Given the description of an element on the screen output the (x, y) to click on. 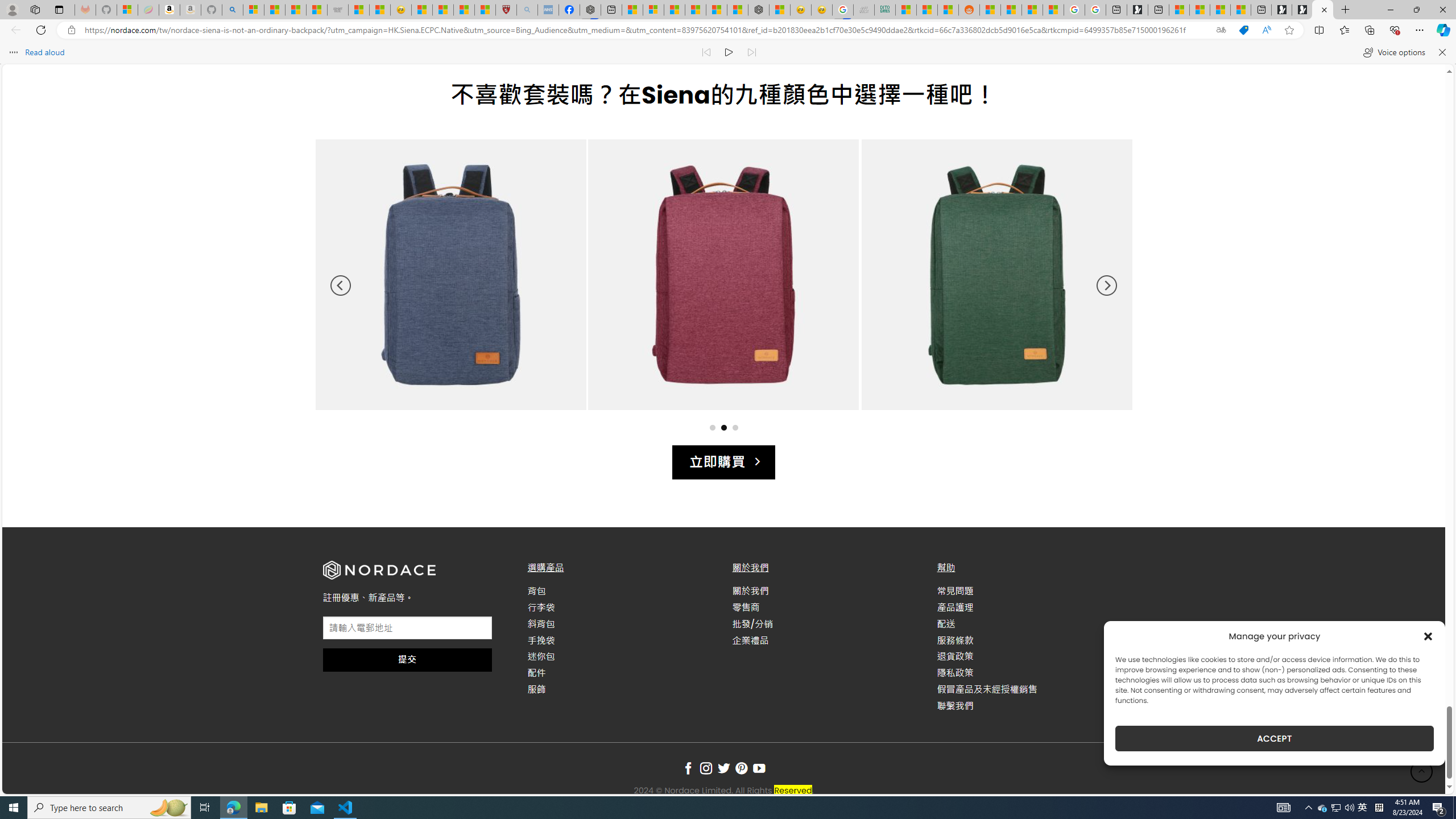
Read previous paragraph (705, 52)
Next (1106, 285)
Nordace - #1 Japanese Best-Seller - Siena Smart Backpack (759, 9)
Previous (340, 285)
